Given the description of an element on the screen output the (x, y) to click on. 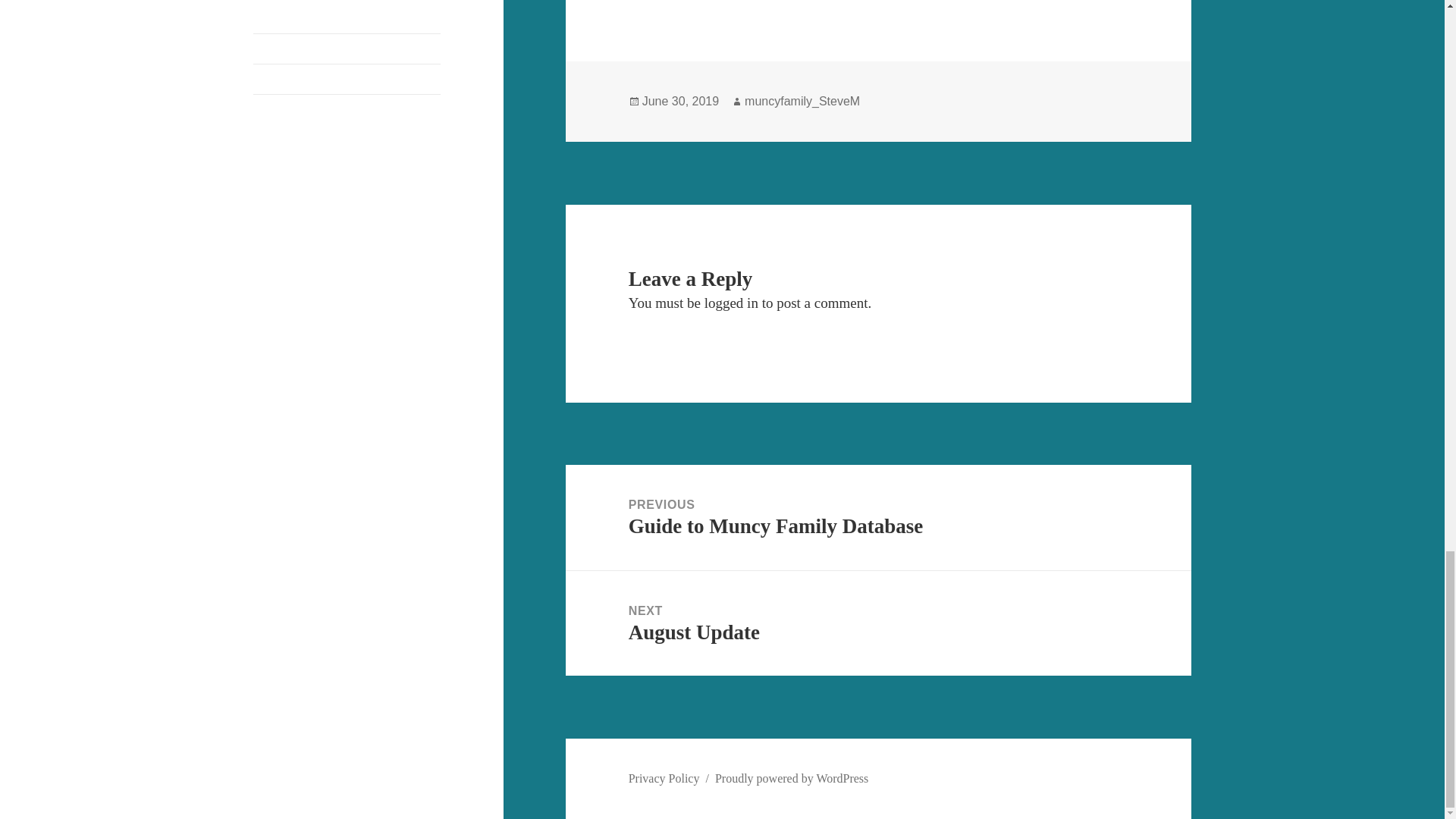
Log in (269, 18)
Comments feed (291, 78)
June 30, 2019 (680, 101)
WordPress.org (288, 109)
Entries feed (282, 48)
